Given the description of an element on the screen output the (x, y) to click on. 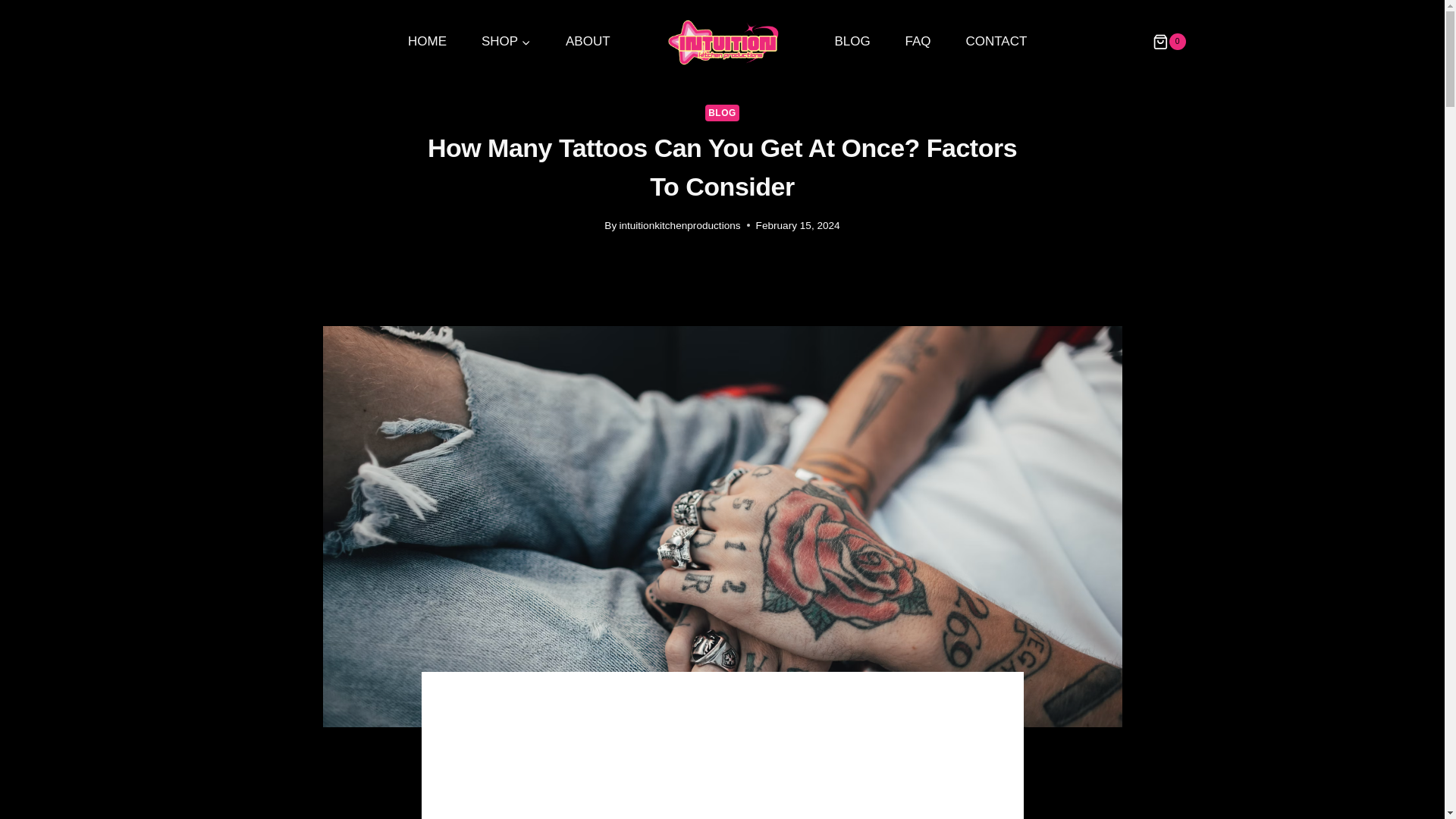
intuitionkitchenproductions (678, 225)
FAQ (918, 40)
BLOG (852, 40)
ABOUT (587, 40)
0 (1170, 41)
SHOP (506, 40)
CONTACT (997, 40)
BLOG (721, 112)
HOME (427, 40)
